Given the description of an element on the screen output the (x, y) to click on. 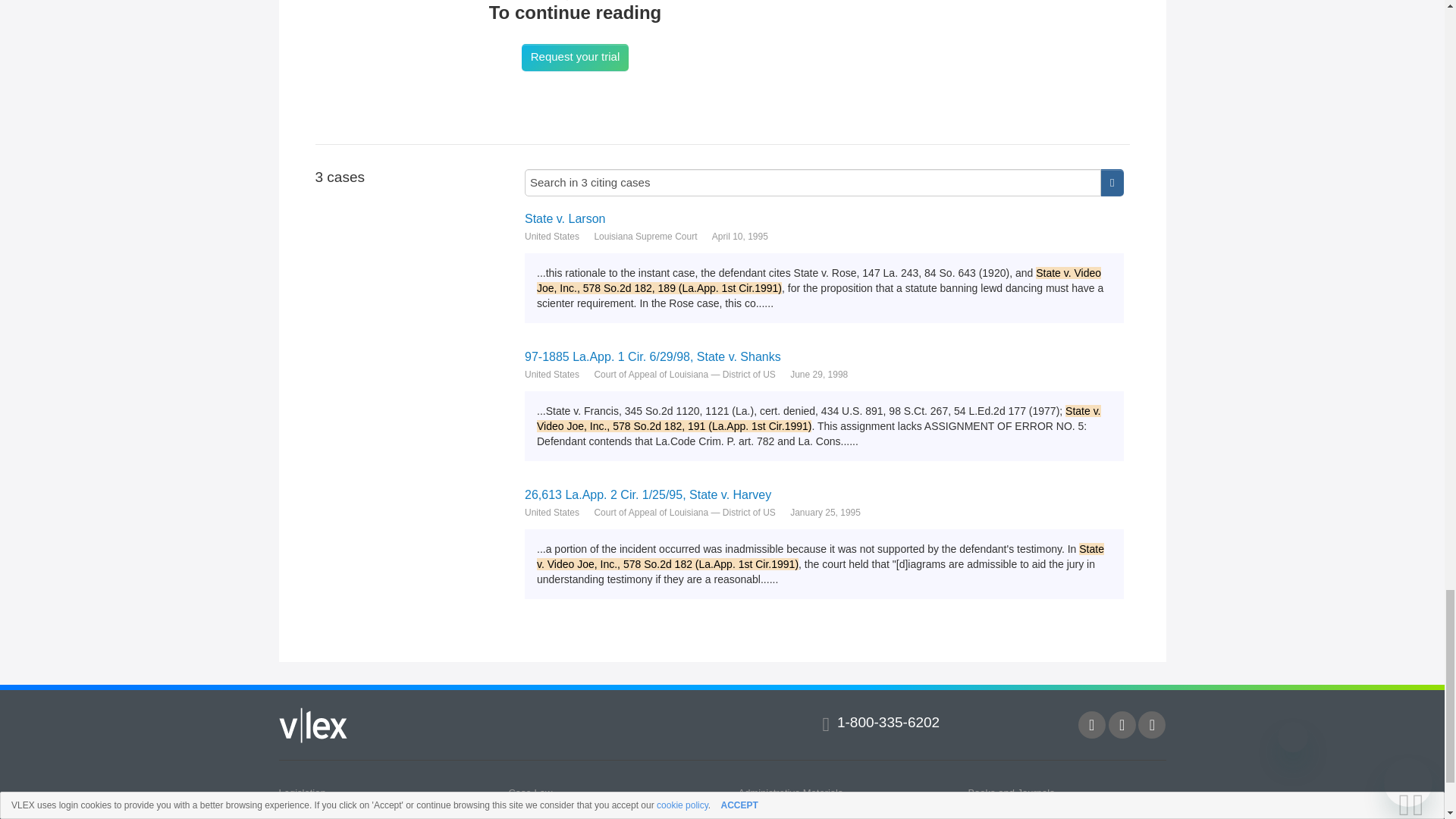
United States (551, 236)
Books and Journals (1011, 792)
Constitutions (996, 811)
Case Law (529, 792)
Legislation (302, 792)
Louisiana Supreme Court (645, 236)
Regulations (534, 811)
Legislation (302, 792)
vLex (313, 724)
Administrative Materials (790, 792)
Contracts (300, 811)
Case Law (529, 792)
June 29, 1998 (818, 374)
United States (551, 374)
State v. Larson (824, 218)
